Given the description of an element on the screen output the (x, y) to click on. 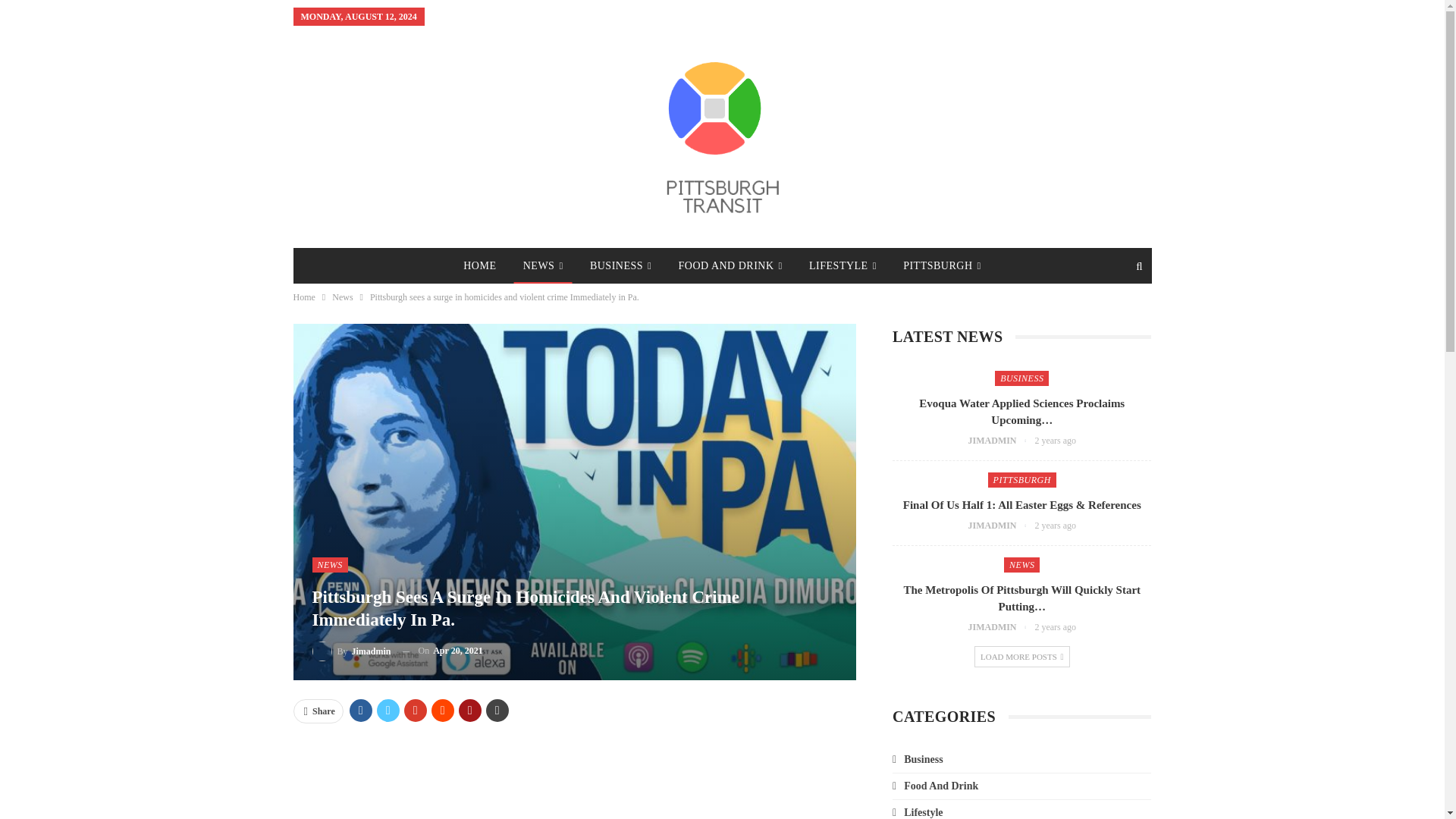
NEWS (542, 265)
FOOD AND DRINK (730, 265)
BUSINESS (620, 265)
HOME (479, 265)
